Given the description of an element on the screen output the (x, y) to click on. 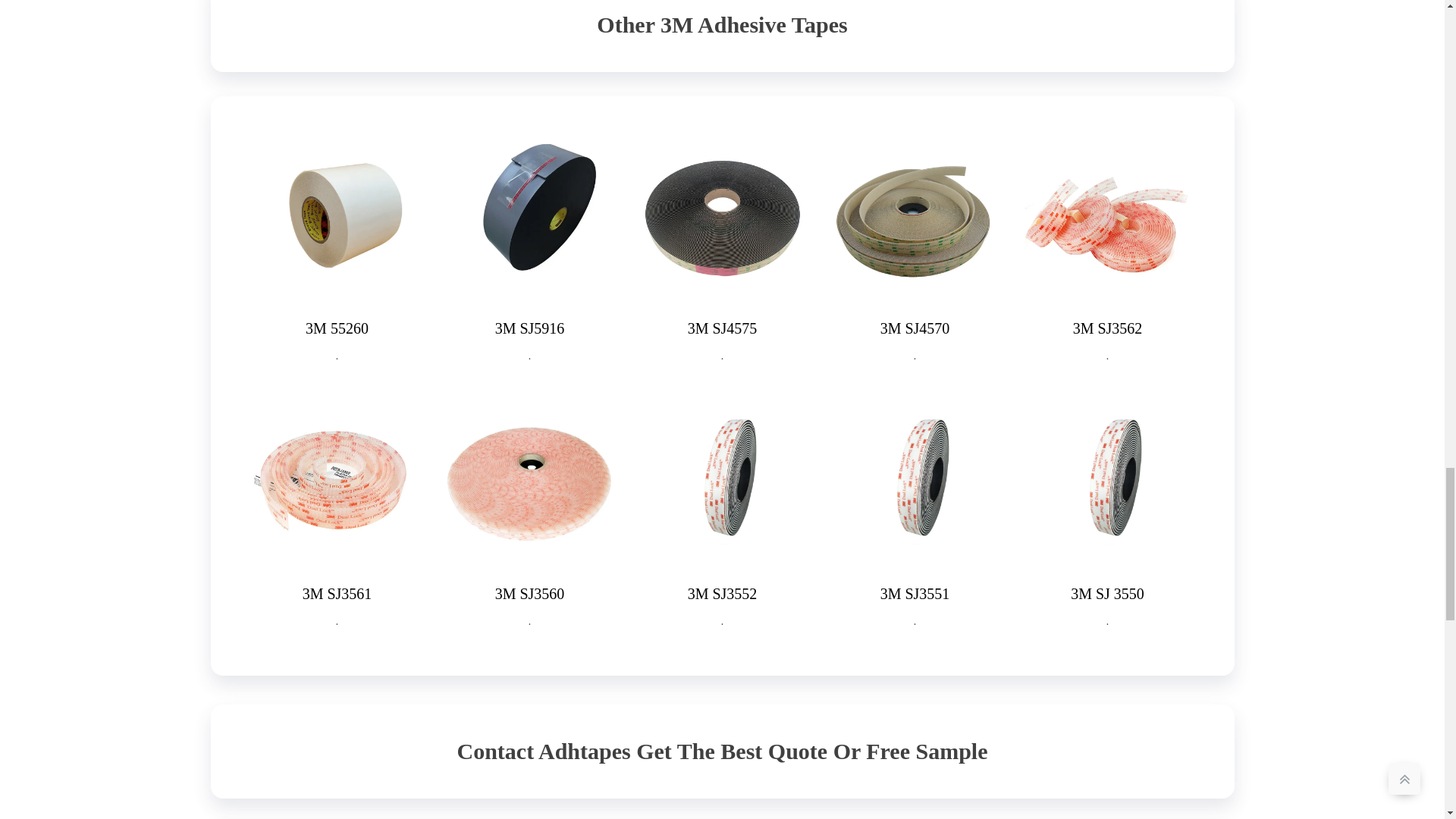
3M SJ5916 (529, 327)
3M SJ3552 (722, 593)
3M SJ 3550 (1107, 593)
3M SJ3560 (529, 593)
3M SJ4570 (915, 327)
3M SJ3561 (337, 593)
3M SJ3562 (1107, 327)
3M 55260 (336, 327)
3M SJ3551 (915, 593)
3M SJ4575 (722, 327)
